Given the description of an element on the screen output the (x, y) to click on. 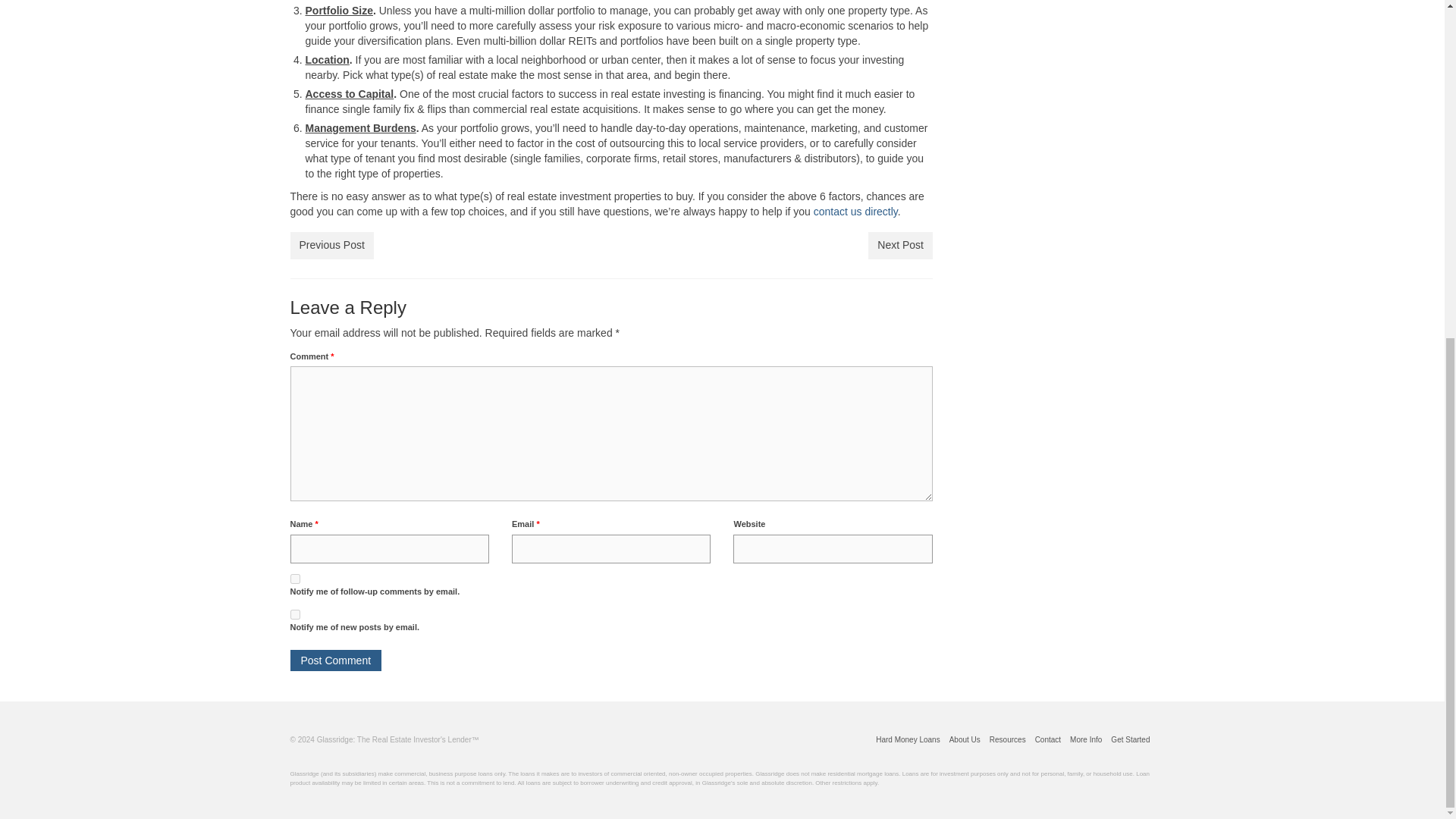
subscribe (294, 614)
subscribe (294, 578)
Post Comment (335, 660)
